Given the description of an element on the screen output the (x, y) to click on. 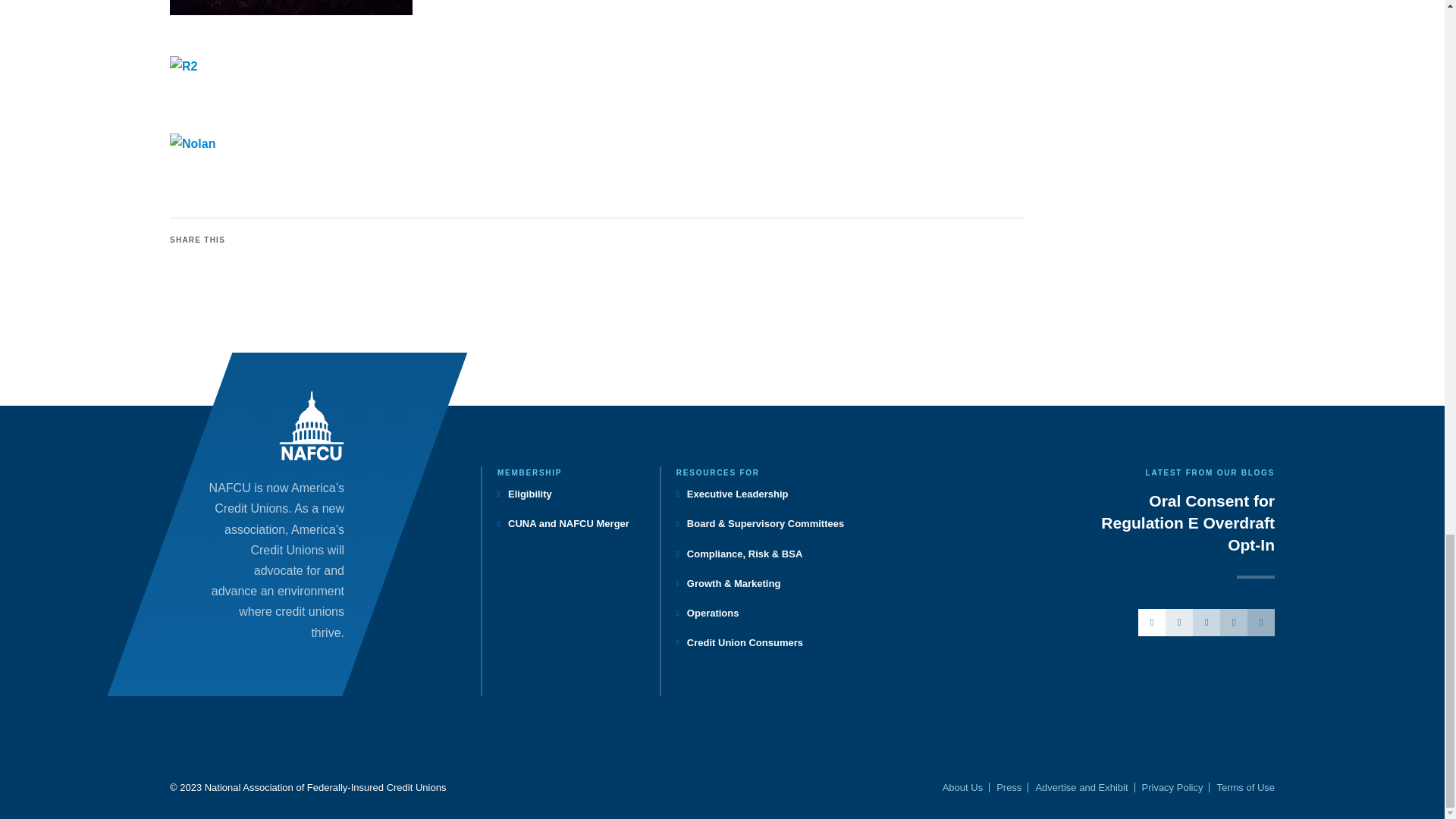
Home (311, 425)
Nolan (545, 143)
R2 (545, 66)
